Given the description of an element on the screen output the (x, y) to click on. 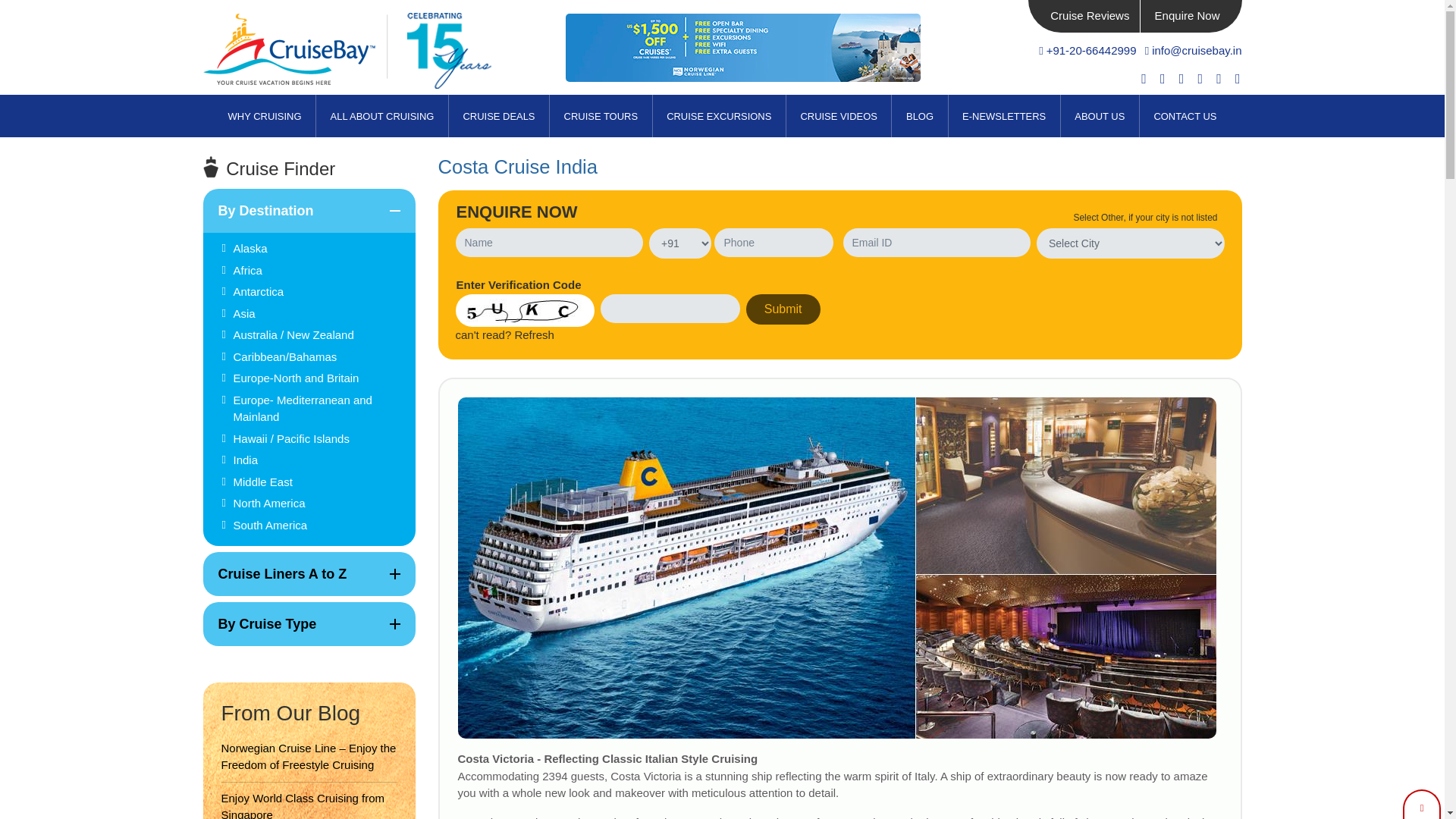
CRUISE EXCURSIONS (719, 116)
Antarctica (318, 292)
North America (318, 503)
Europe- Mediterranean and Mainland (318, 408)
Europe-North and Britain (318, 378)
ABOUT US (1099, 116)
WHY CRUISING (308, 210)
Cruise Reviews (264, 116)
Africa (1089, 15)
South America (318, 271)
India (318, 525)
CRUISE DEALS (318, 460)
CRUISE TOURS (498, 116)
CONTACT US (601, 116)
